Given the description of an element on the screen output the (x, y) to click on. 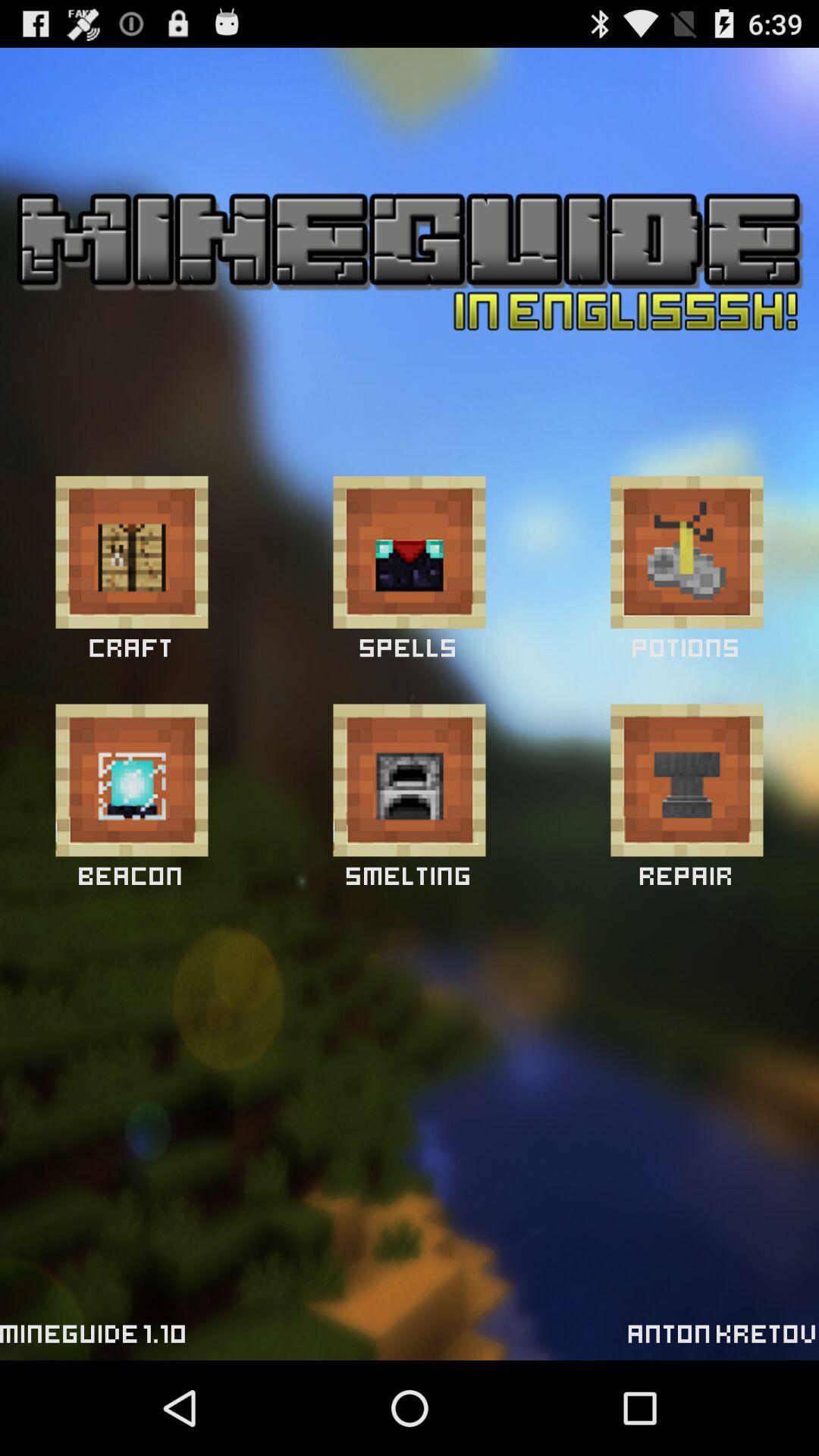
go to smelting (409, 780)
